Given the description of an element on the screen output the (x, y) to click on. 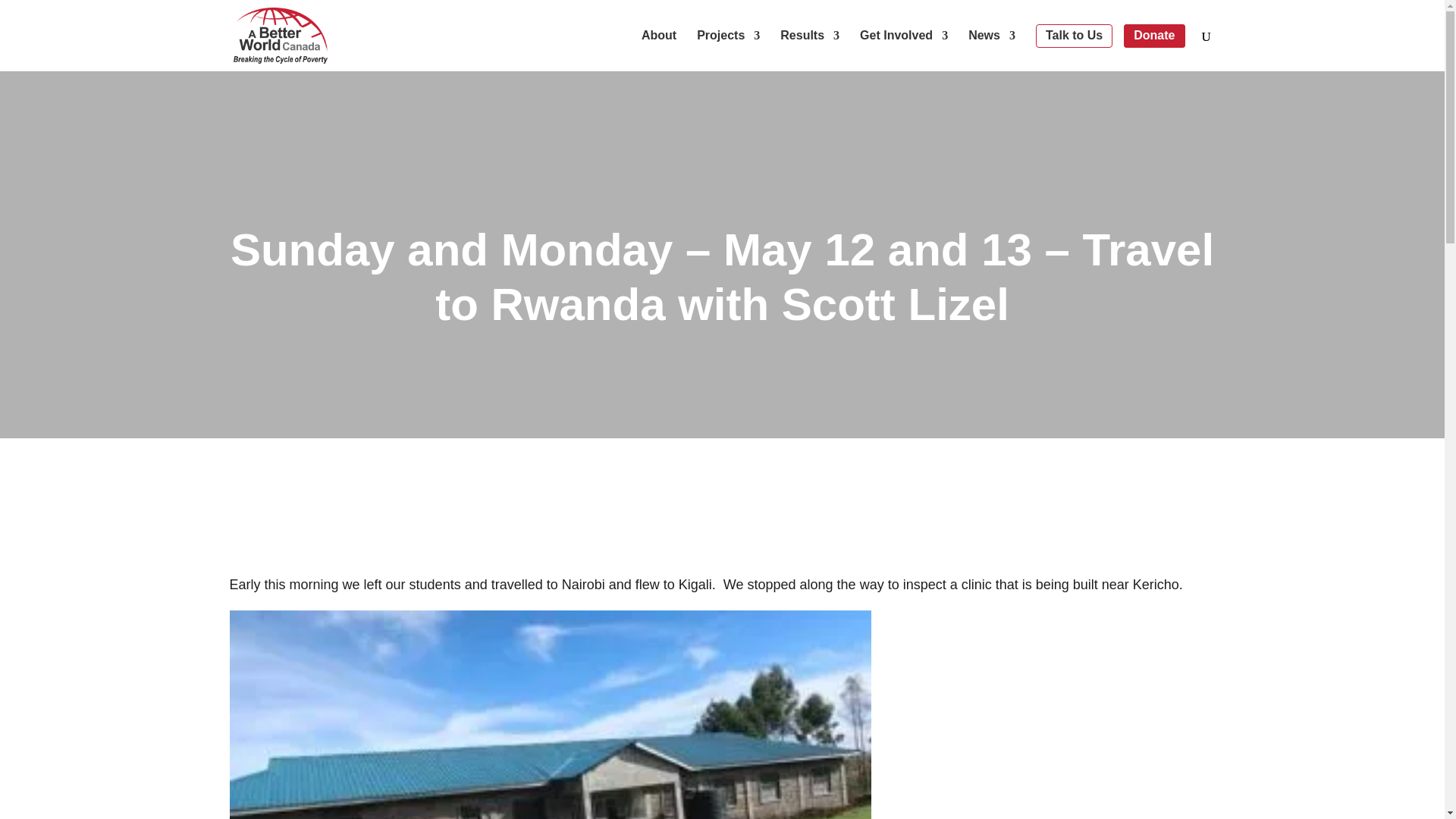
Projects (728, 50)
Donate (1154, 35)
News (991, 50)
Talk to Us (1073, 35)
Results (810, 50)
Get Involved (903, 50)
